Given the description of an element on the screen output the (x, y) to click on. 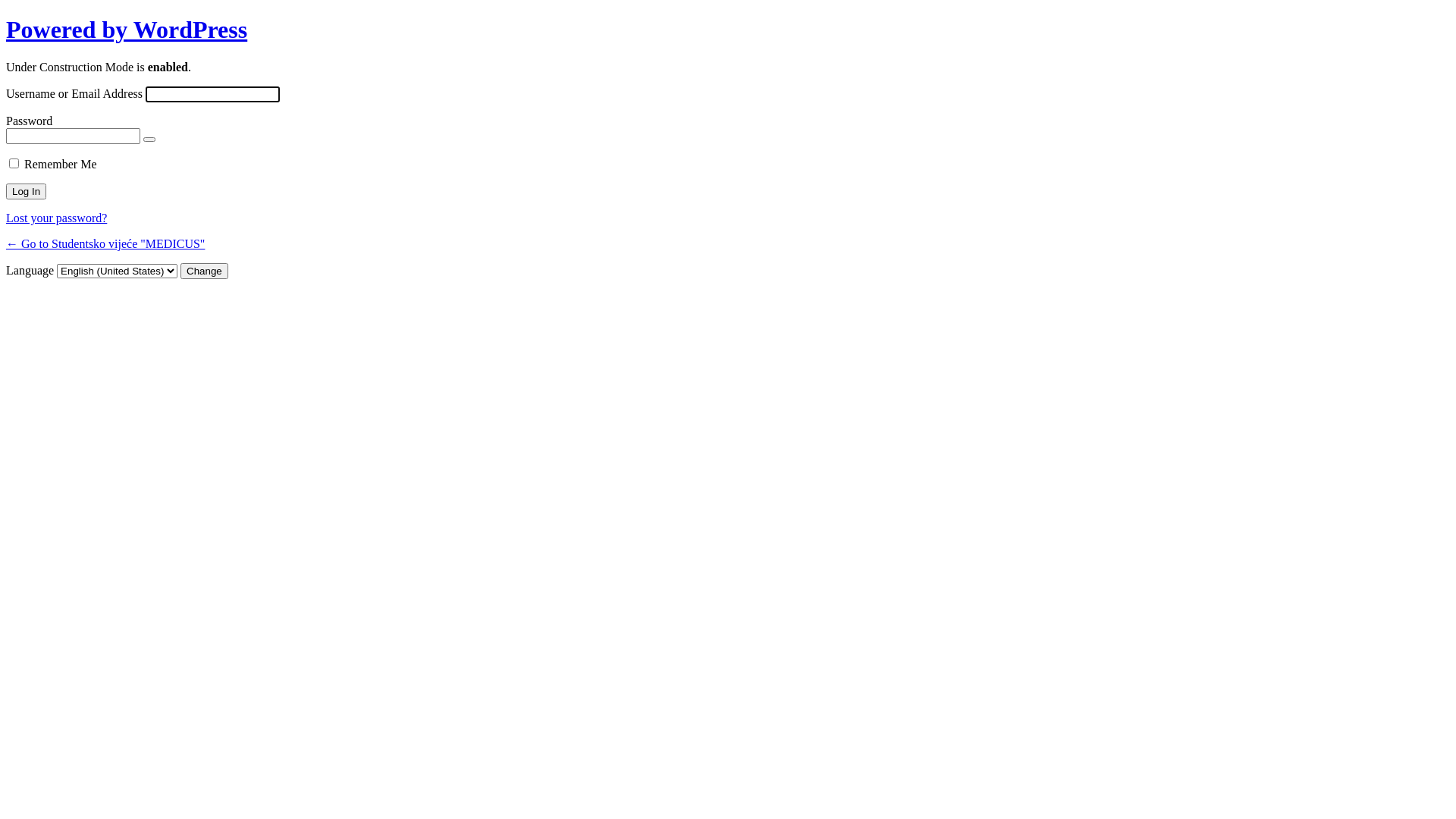
Lost your password? Element type: text (56, 217)
Powered by WordPress Element type: text (126, 29)
Log In Element type: text (26, 191)
Change Element type: text (204, 271)
